Given the description of an element on the screen output the (x, y) to click on. 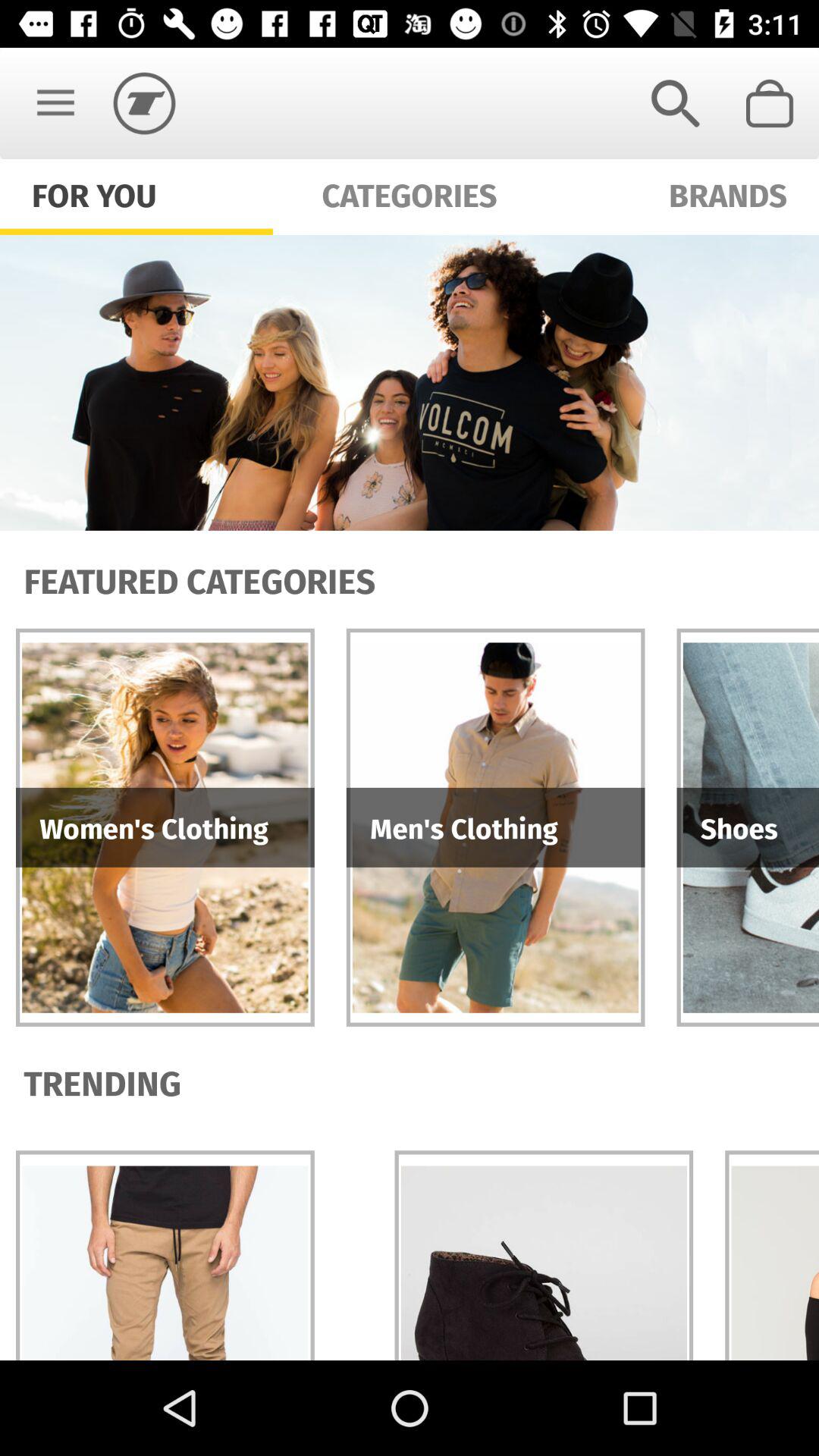
jump to the for you (93, 193)
